Given the description of an element on the screen output the (x, y) to click on. 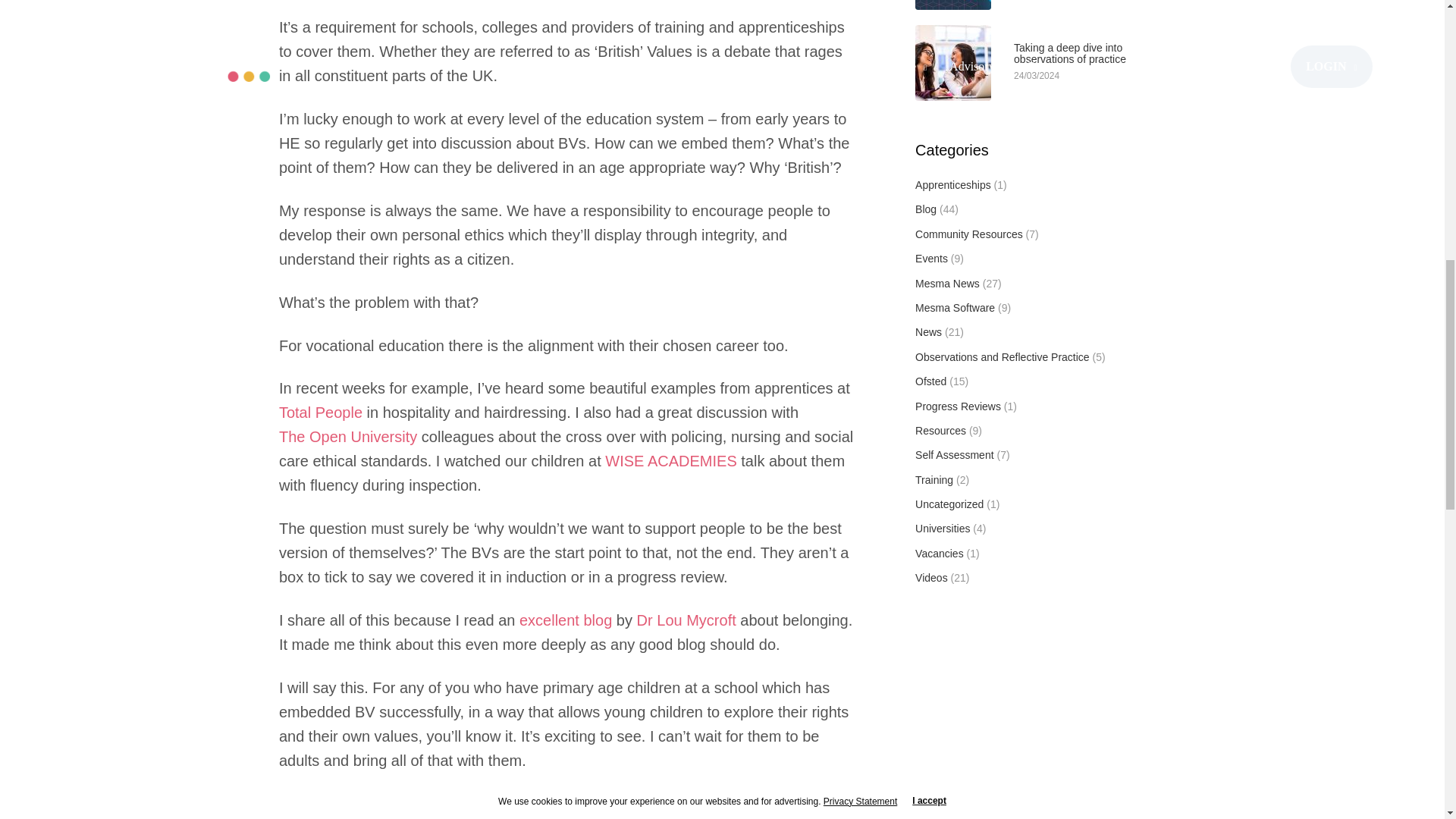
Taking a deep dive into observations of practice (1096, 54)
